Given the description of an element on the screen output the (x, y) to click on. 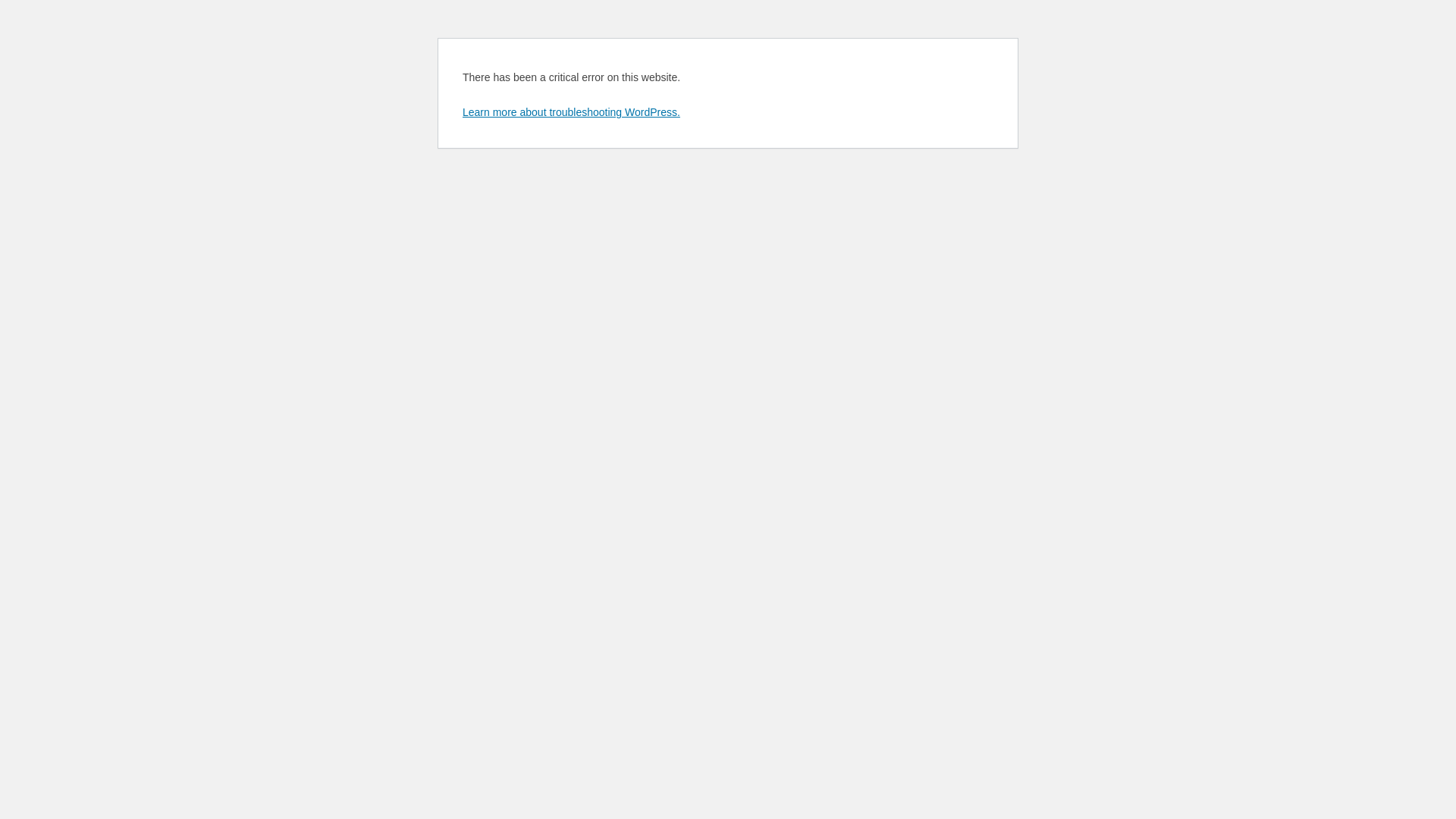
Learn more about troubleshooting WordPress. Element type: text (571, 112)
